Given the description of an element on the screen output the (x, y) to click on. 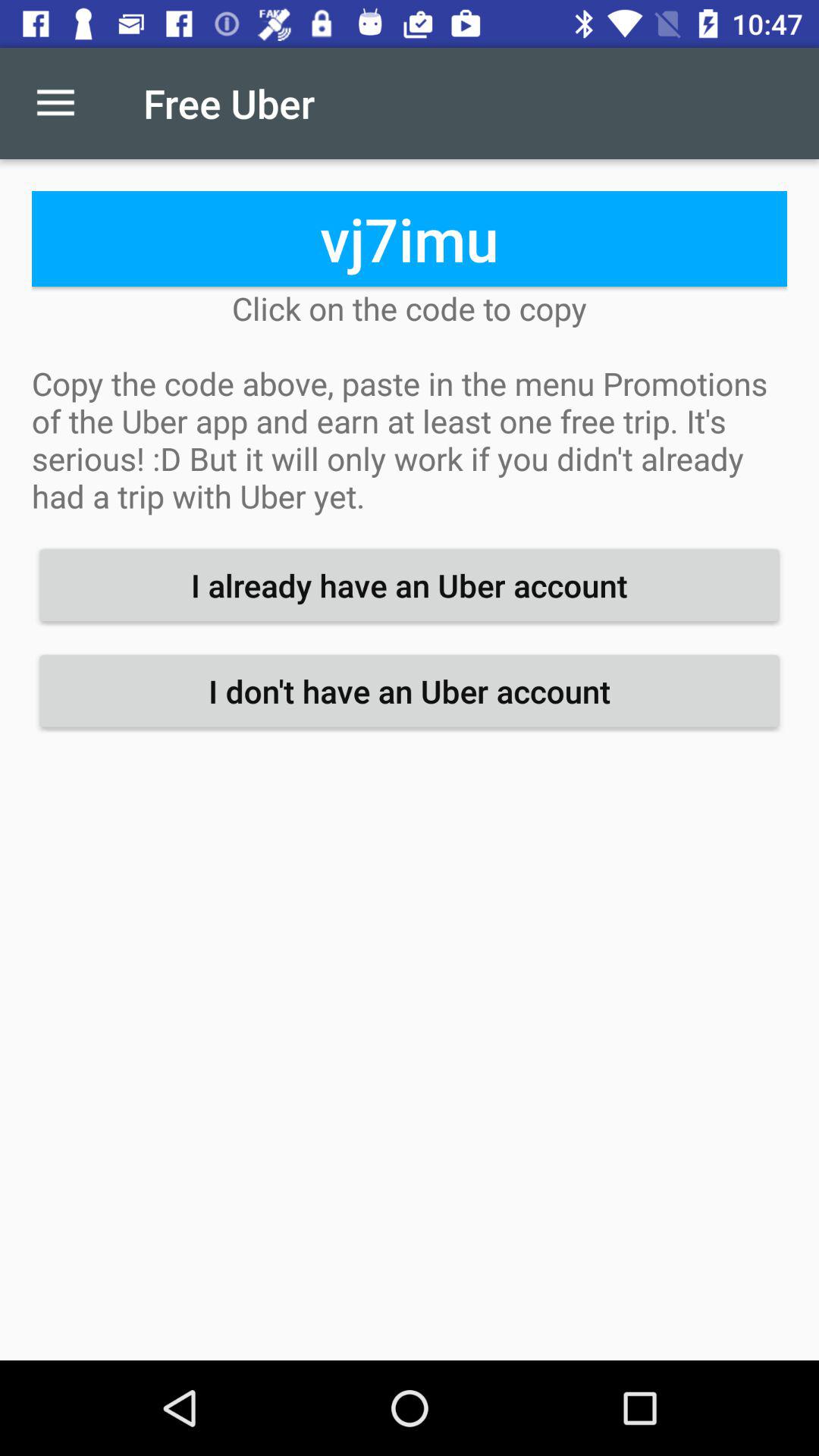
flip until vj7imu icon (409, 238)
